Given the description of an element on the screen output the (x, y) to click on. 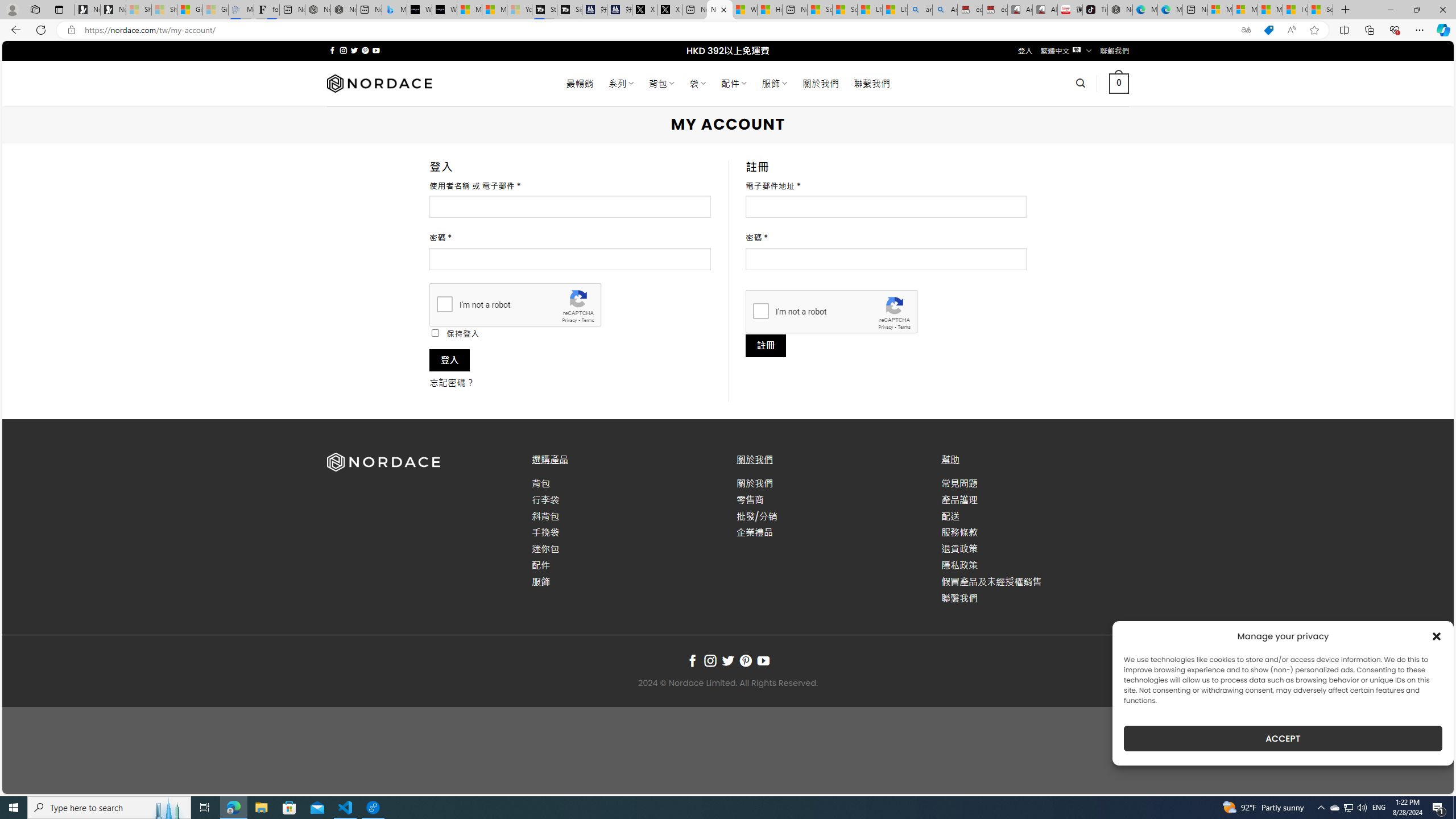
Privacy (885, 326)
I'm not a robot (760, 310)
Nordace - My Account (718, 9)
